Given the description of an element on the screen output the (x, y) to click on. 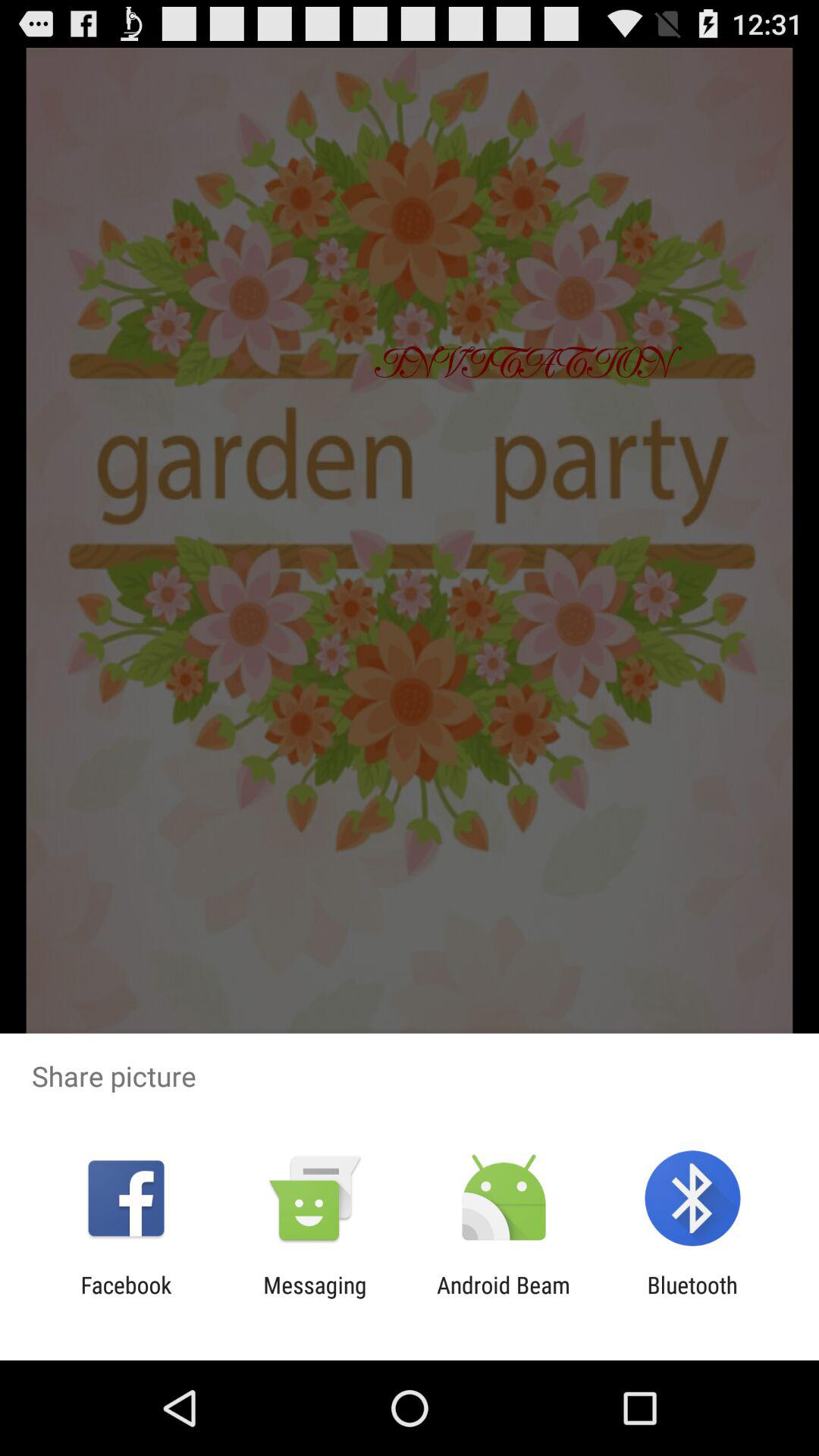
turn off item to the right of the android beam app (692, 1298)
